Given the description of an element on the screen output the (x, y) to click on. 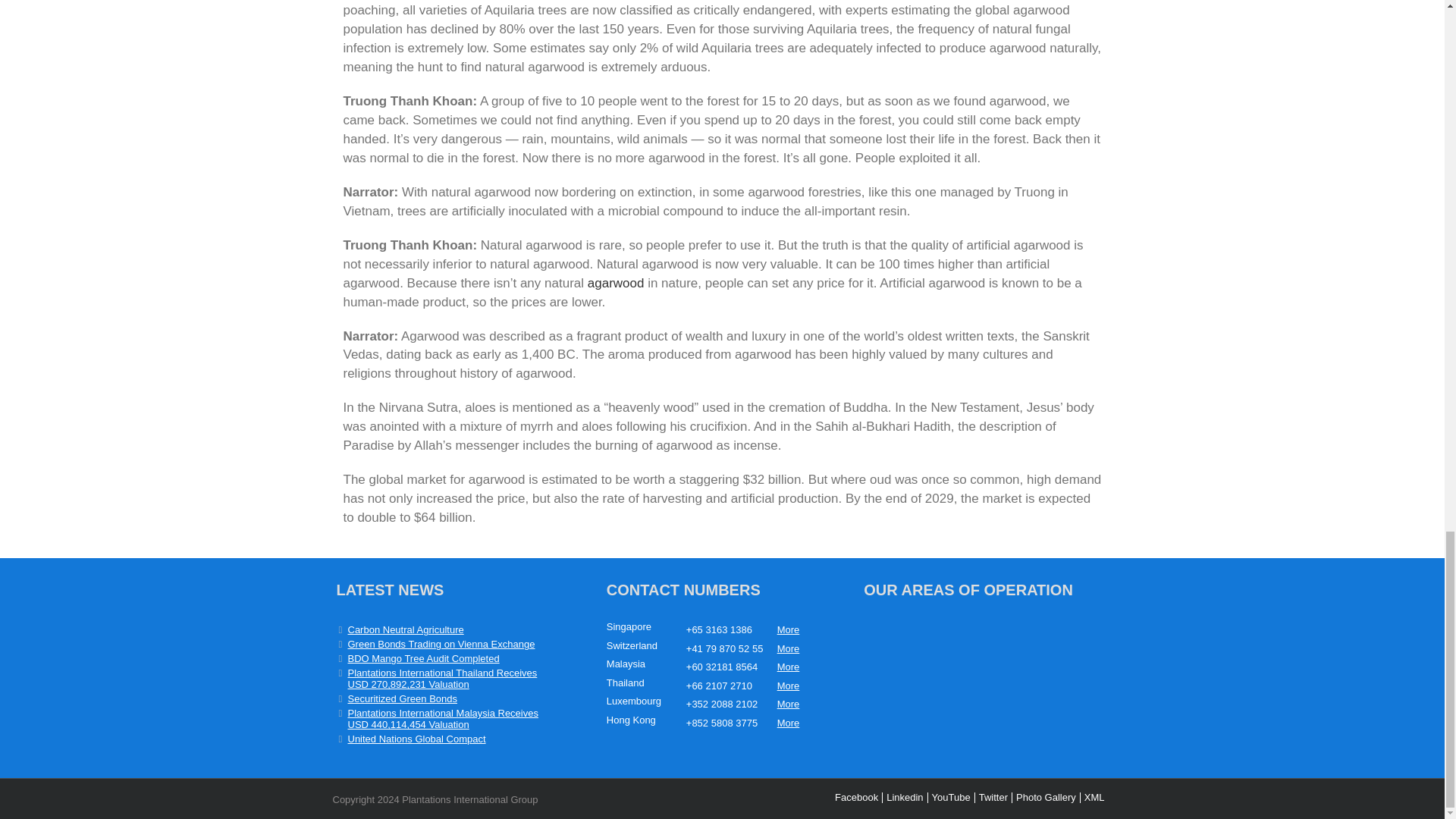
agarwood (616, 283)
